Given the description of an element on the screen output the (x, y) to click on. 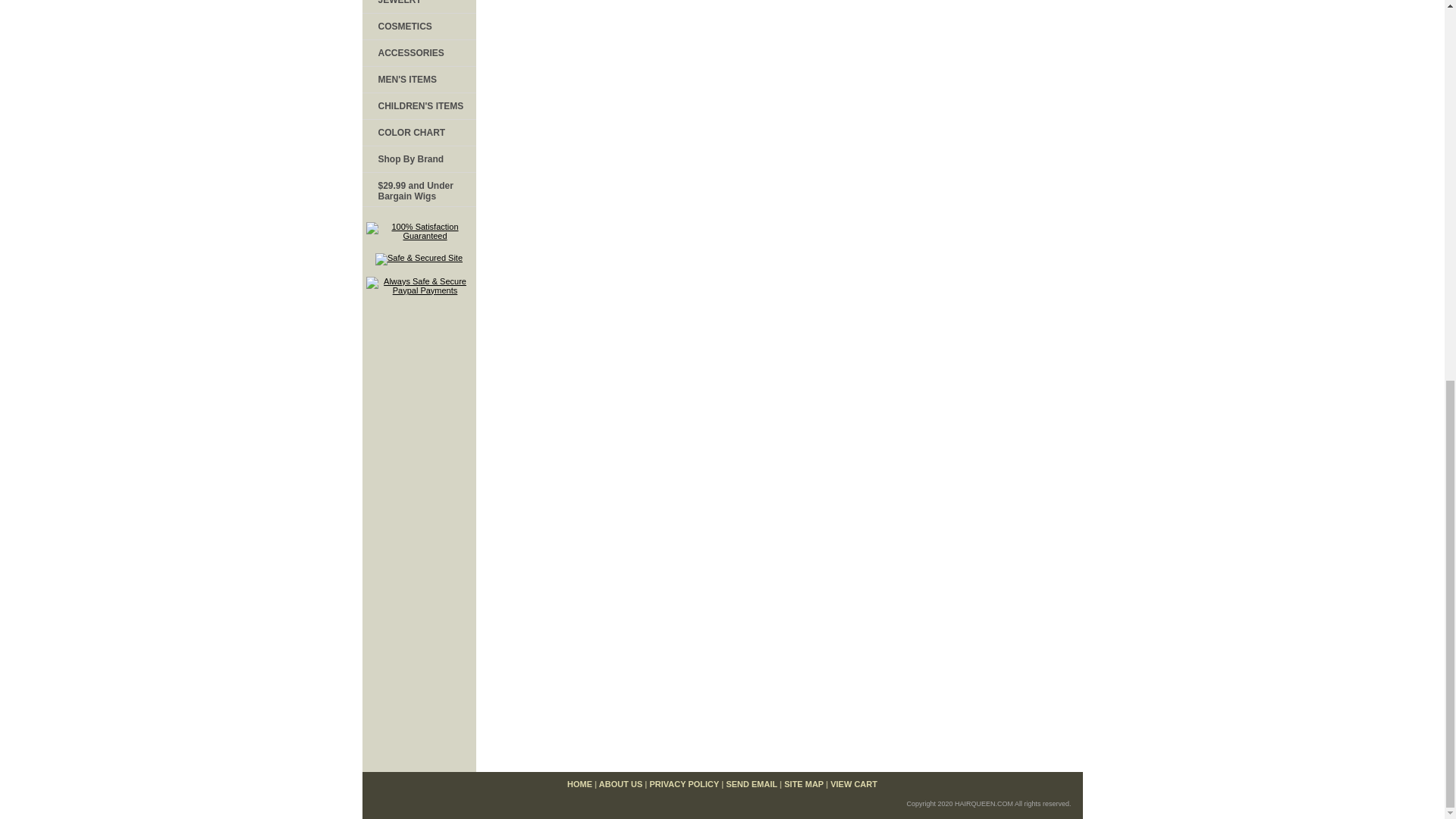
Shop By Brand (419, 159)
JEWELRY (419, 6)
ACCESSORIES (419, 53)
CHILDREN'S ITEMS (419, 106)
COLOR CHART (419, 132)
COSMETICS (419, 26)
HOME (579, 783)
MEN'S ITEMS (419, 79)
